Given the description of an element on the screen output the (x, y) to click on. 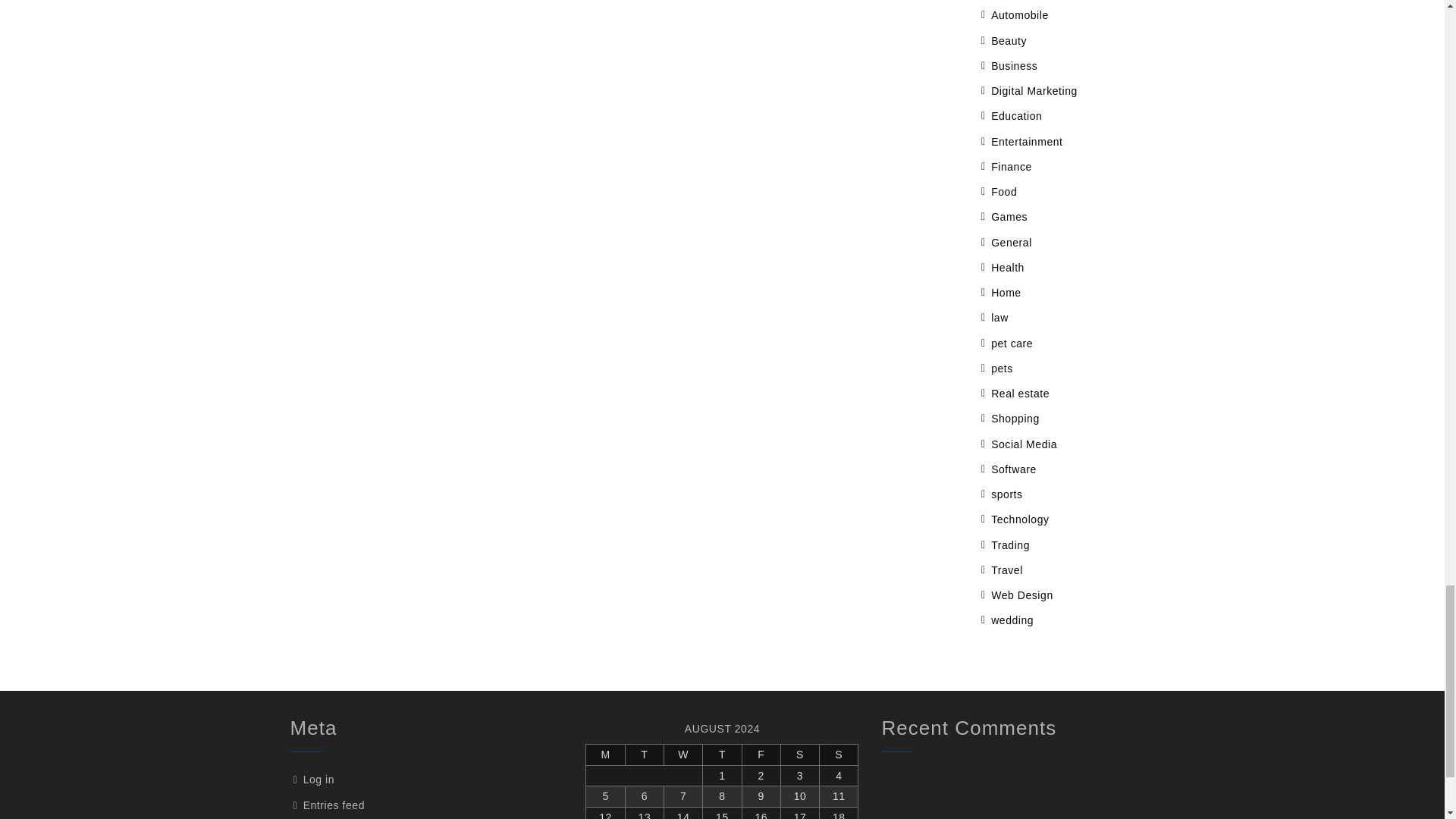
Thursday (722, 754)
Tuesday (643, 754)
Monday (605, 754)
Friday (760, 754)
Saturday (799, 754)
Wednesday (683, 754)
Sunday (839, 754)
